Given the description of an element on the screen output the (x, y) to click on. 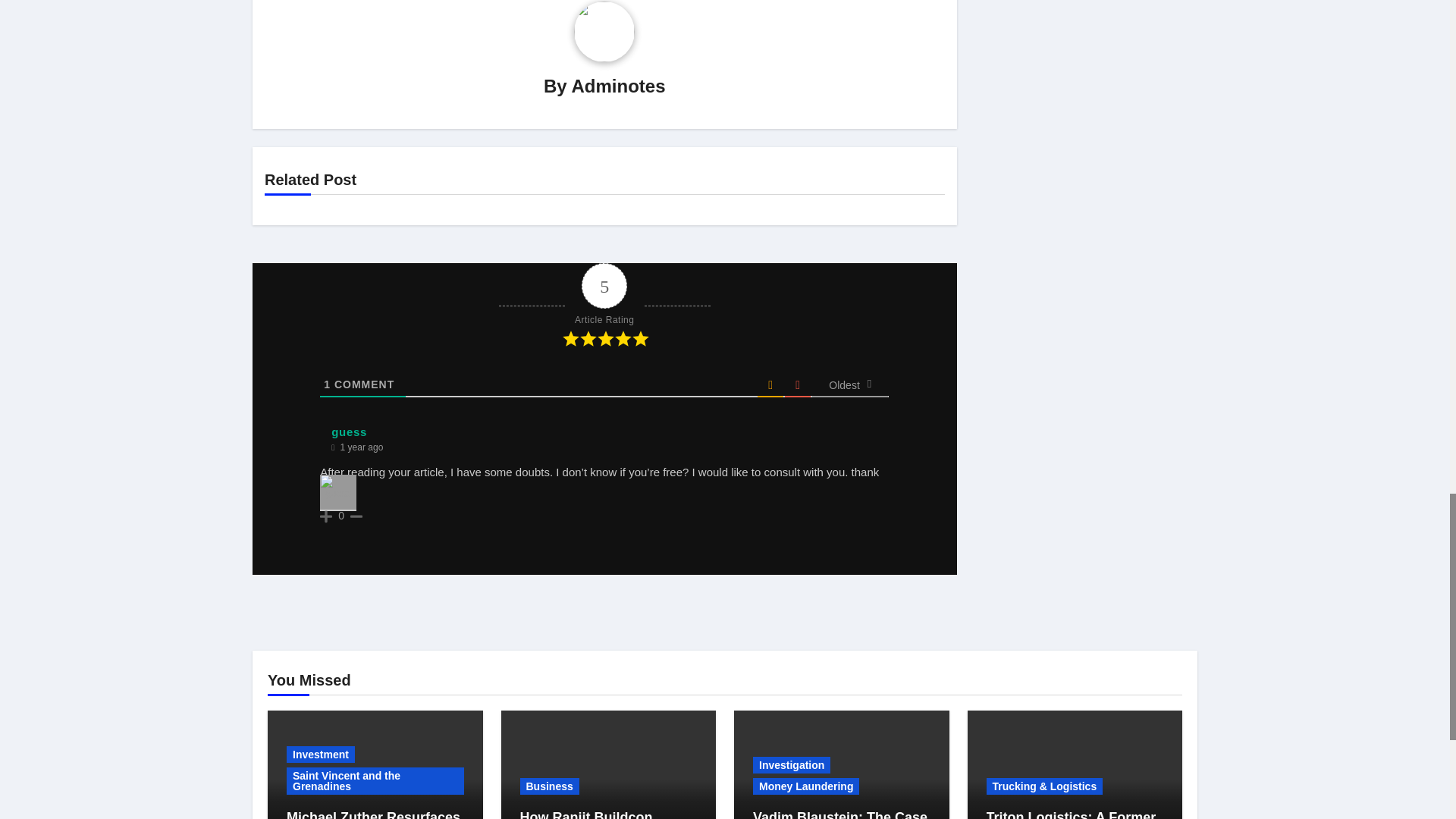
May 13, 2023 12:04 pm (360, 447)
0 (340, 515)
